Given the description of an element on the screen output the (x, y) to click on. 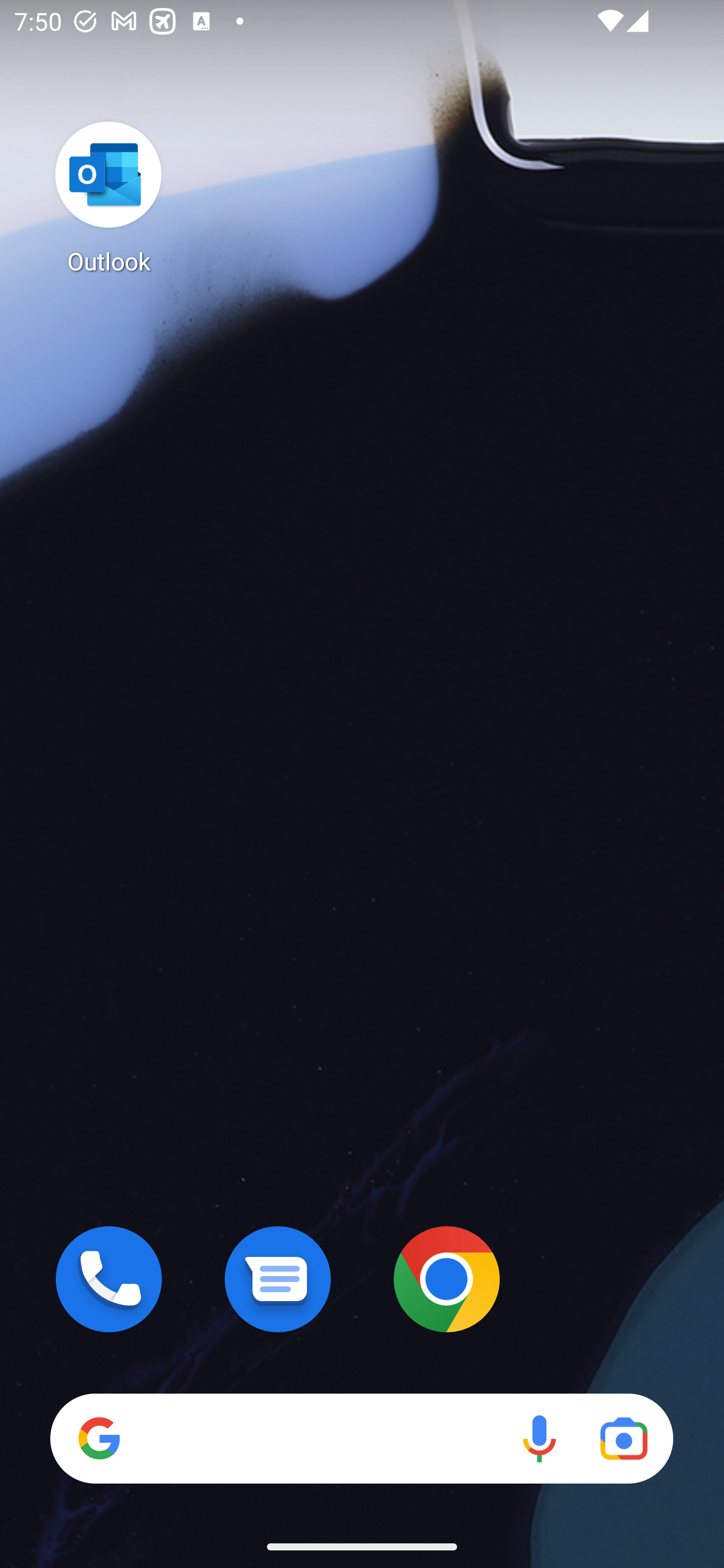
Outlook (108, 196)
Phone (108, 1279)
Messages (277, 1279)
Chrome (446, 1279)
Voice search (539, 1438)
Google Lens (623, 1438)
